Given the description of an element on the screen output the (x, y) to click on. 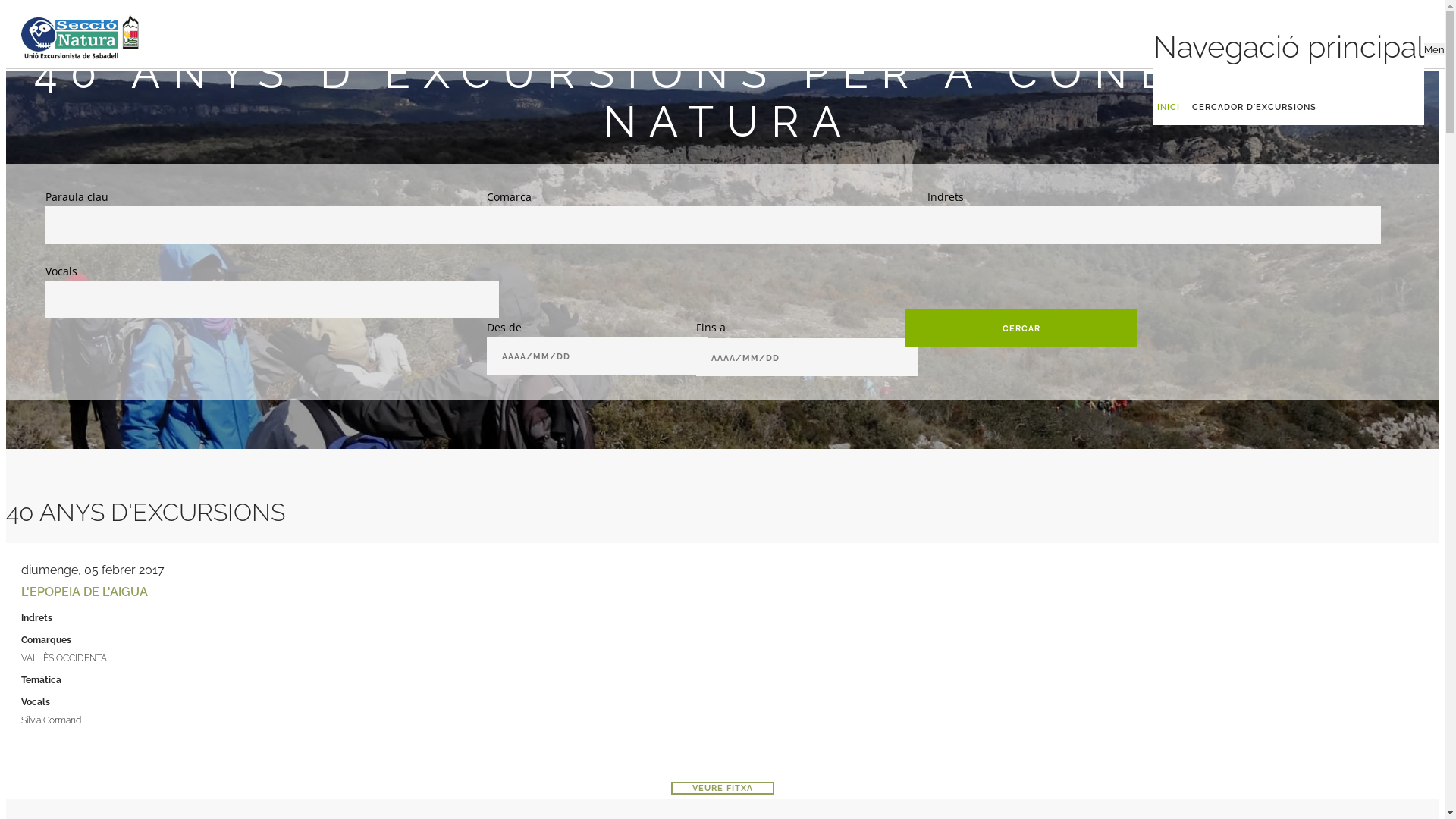
L'EPOPEIA DE L'AIGUA Element type: text (84, 591)
VEURE FITXA Element type: text (721, 787)
CERCAR Element type: text (1021, 328)
INICI Element type: text (1168, 107)
CERCADOR D'EXCURSIONS Element type: text (1254, 107)
Inici Element type: hover (79, 26)
